Given the description of an element on the screen output the (x, y) to click on. 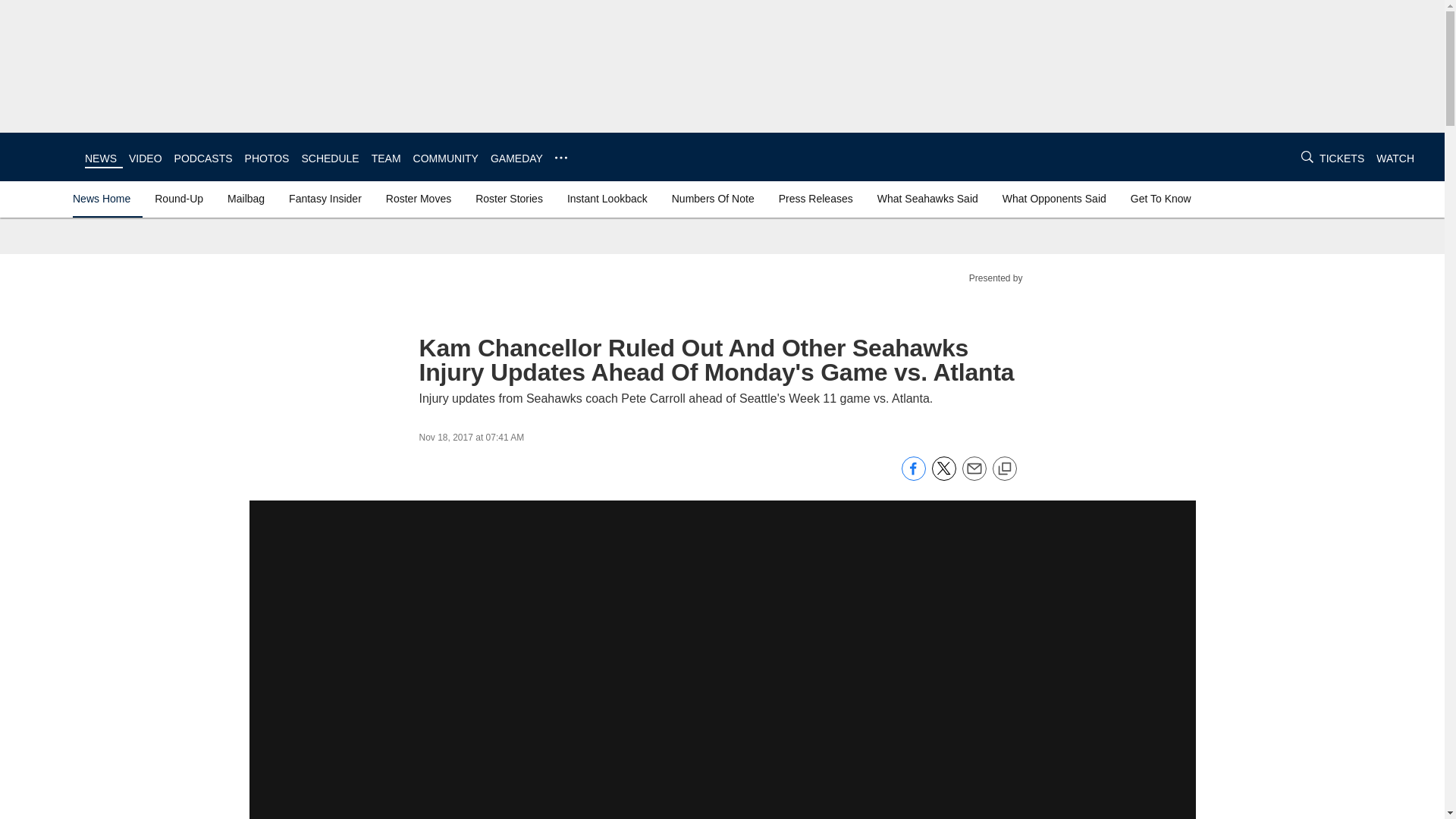
Roster Moves (418, 198)
Mailbag (245, 198)
SCHEDULE (329, 158)
Round-Up (178, 198)
What Seahawks Said (927, 198)
Instant Lookback (606, 198)
Link to club's homepage (42, 156)
SCHEDULE (329, 158)
VIDEO (145, 158)
PODCASTS (203, 158)
